Given the description of an element on the screen output the (x, y) to click on. 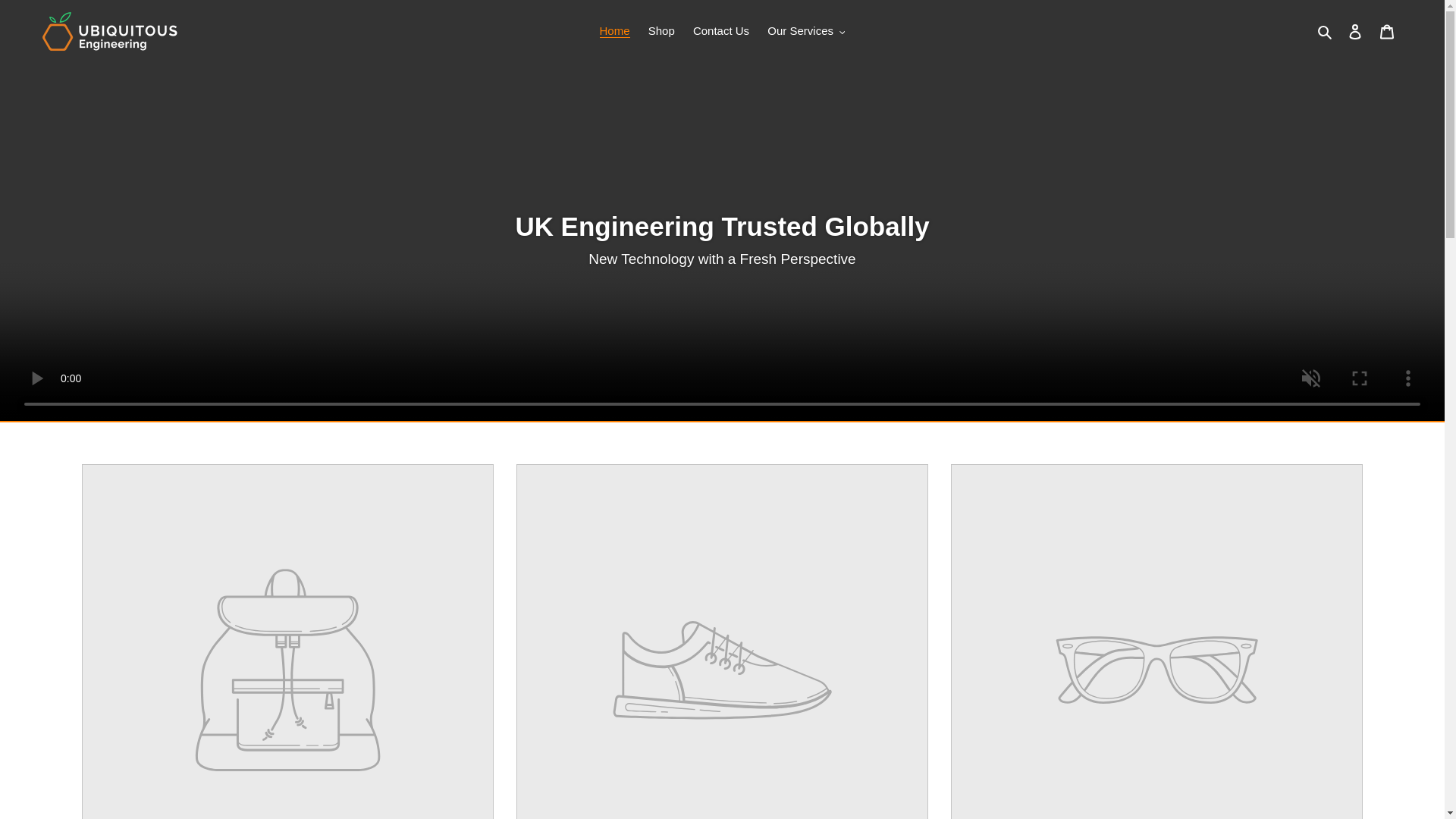
Shop (661, 31)
Log in (1355, 31)
Home (614, 31)
Search (1326, 31)
Cart (1387, 31)
Our Services (805, 31)
Contact Us (721, 31)
